Given the description of an element on the screen output the (x, y) to click on. 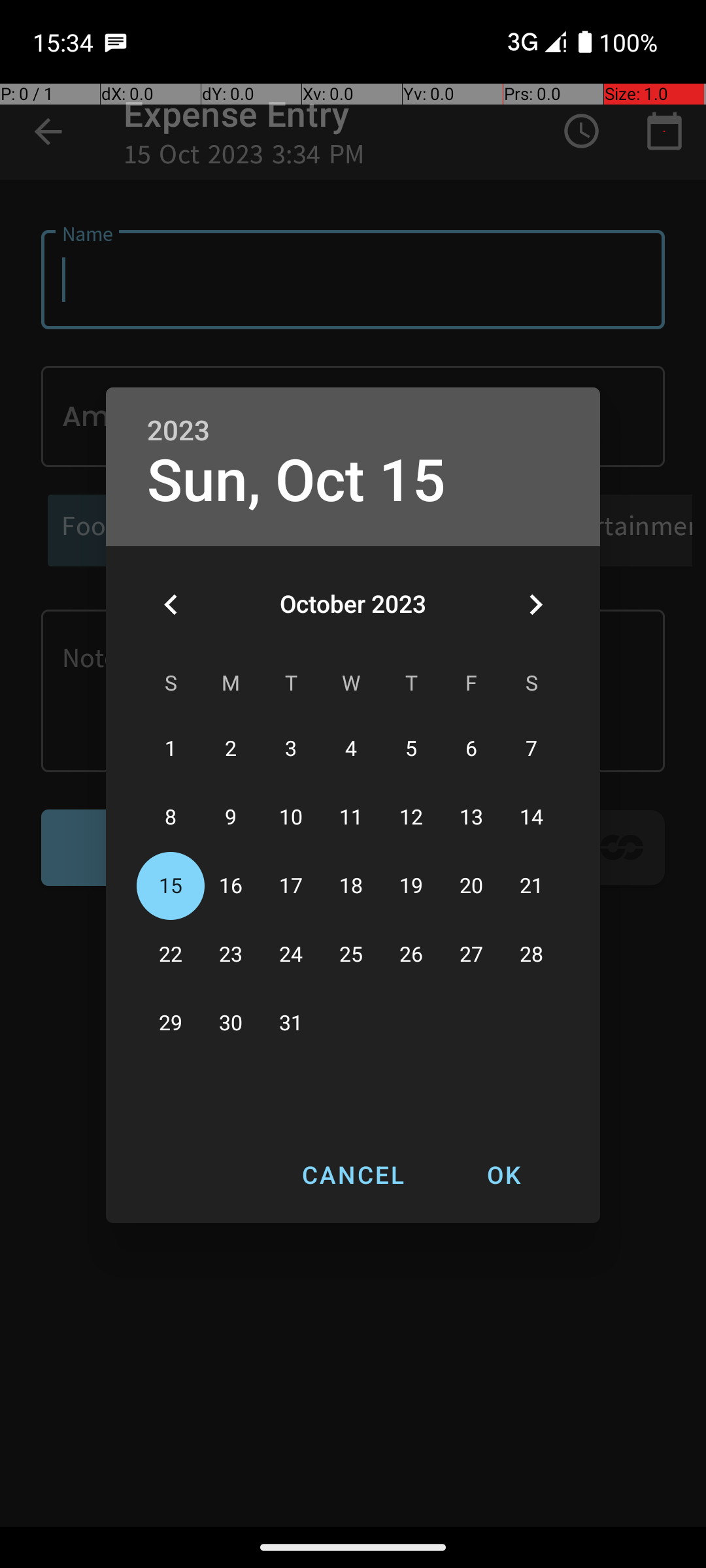
2023 Element type: android.widget.TextView (178, 430)
